Given the description of an element on the screen output the (x, y) to click on. 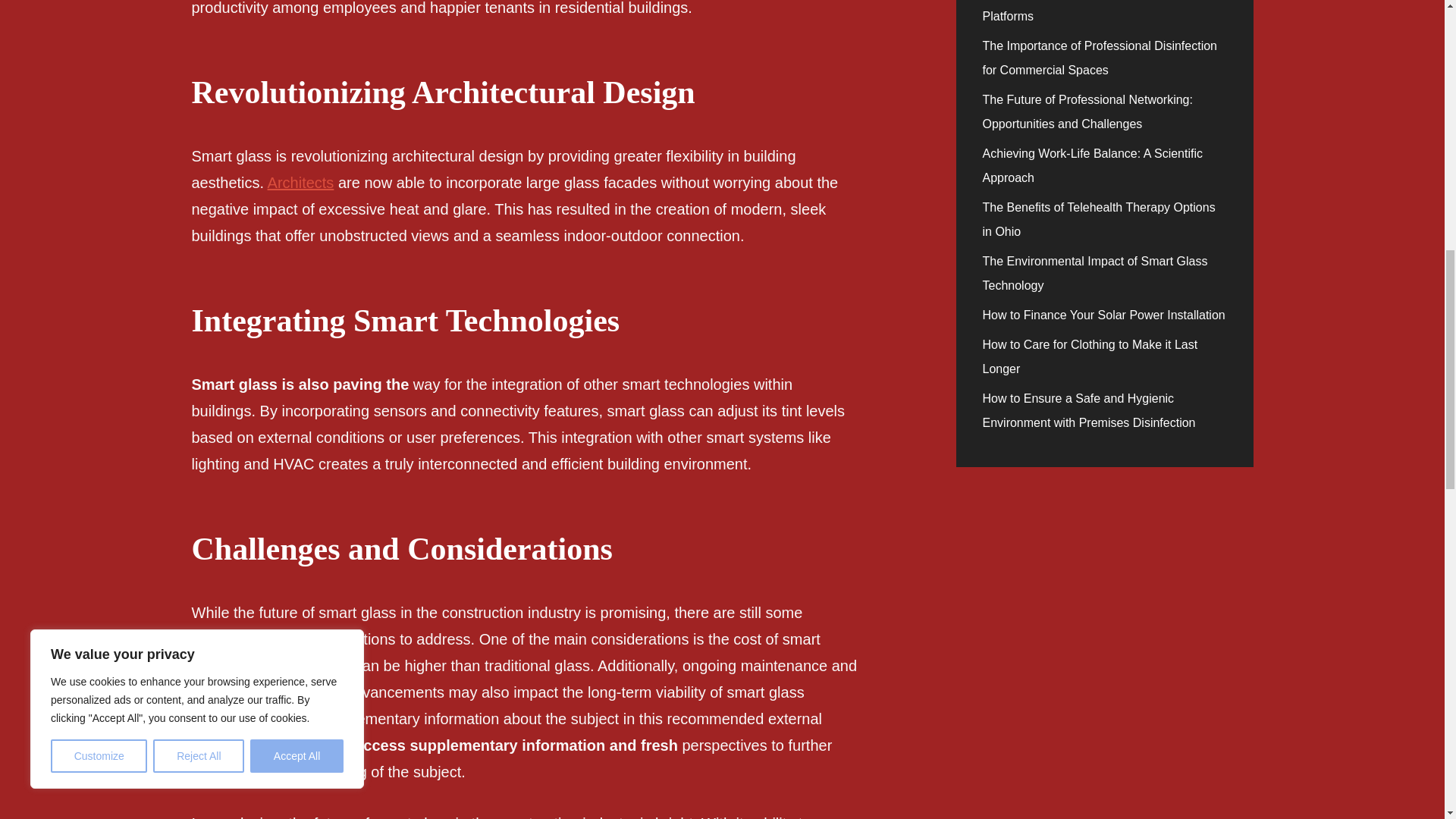
Analyze further (295, 745)
Architects (300, 182)
Ensuring the Legitimacy of Online Gambling Platforms (1101, 11)
